Given the description of an element on the screen output the (x, y) to click on. 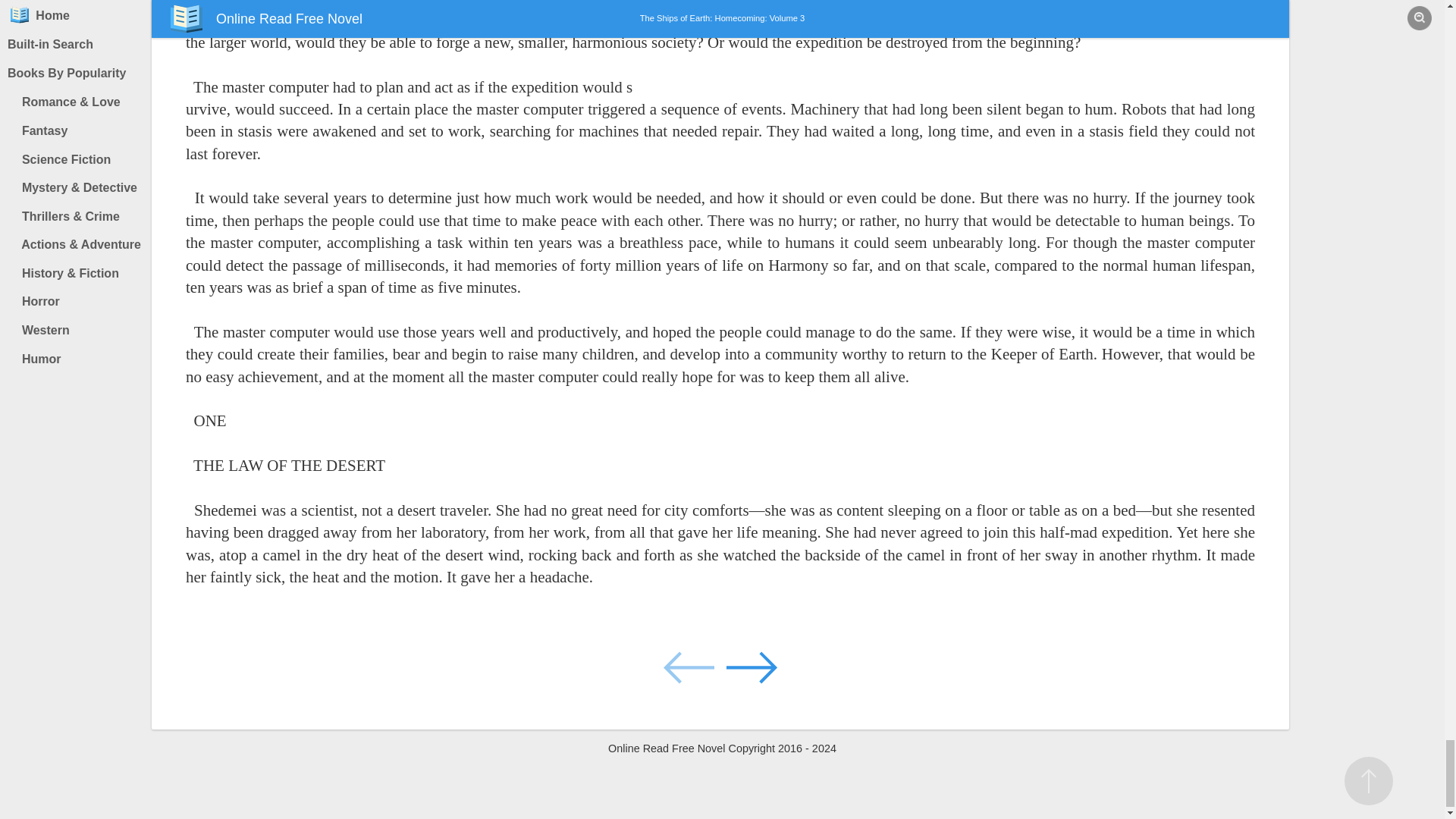
Next Page (751, 665)
Previous Page (690, 665)
